Given the description of an element on the screen output the (x, y) to click on. 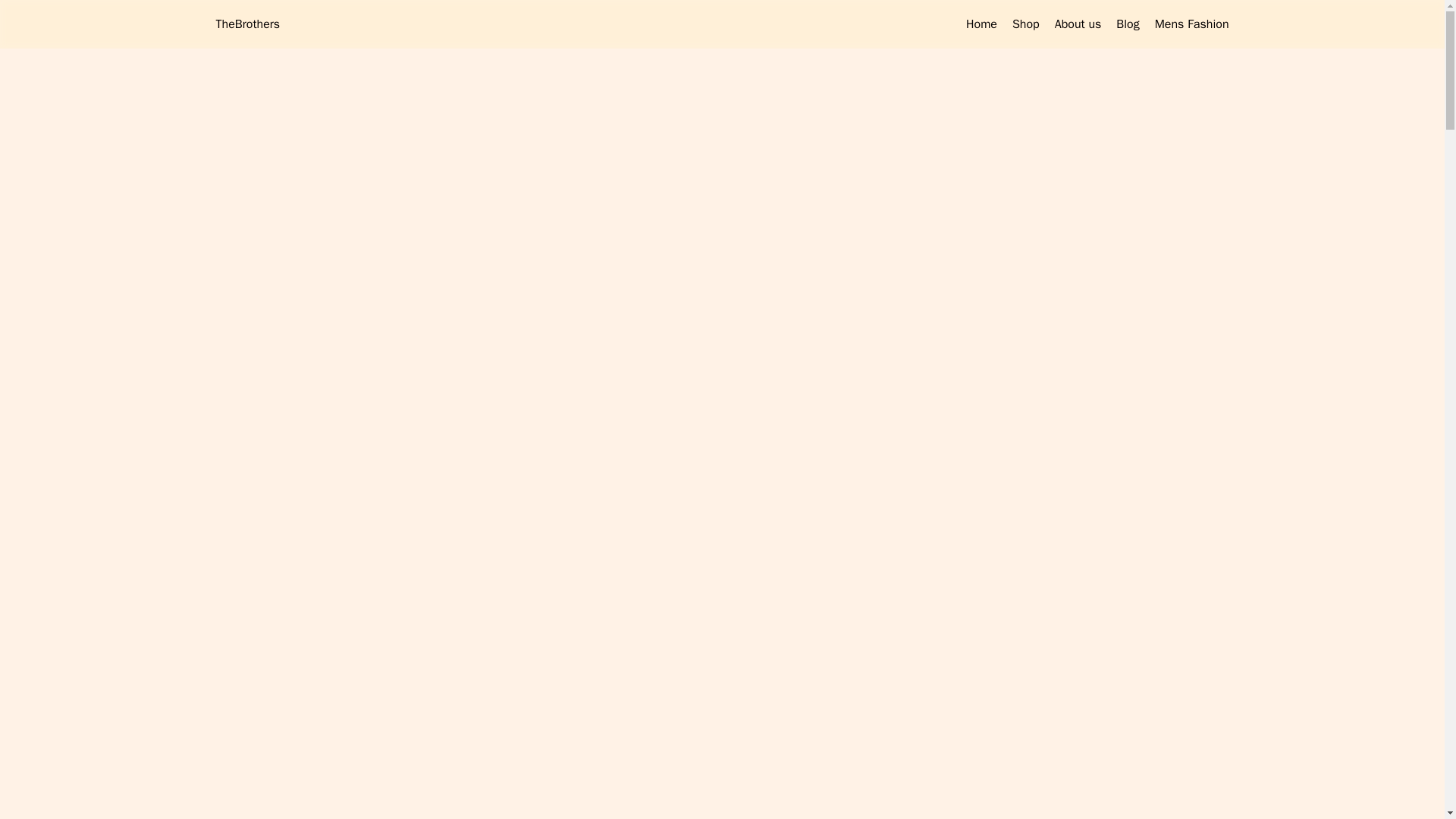
TheBrothers (247, 24)
Home (981, 24)
Blog (1127, 24)
Mens Fashion (1191, 24)
About us (1078, 24)
Shop (1025, 24)
